Given the description of an element on the screen output the (x, y) to click on. 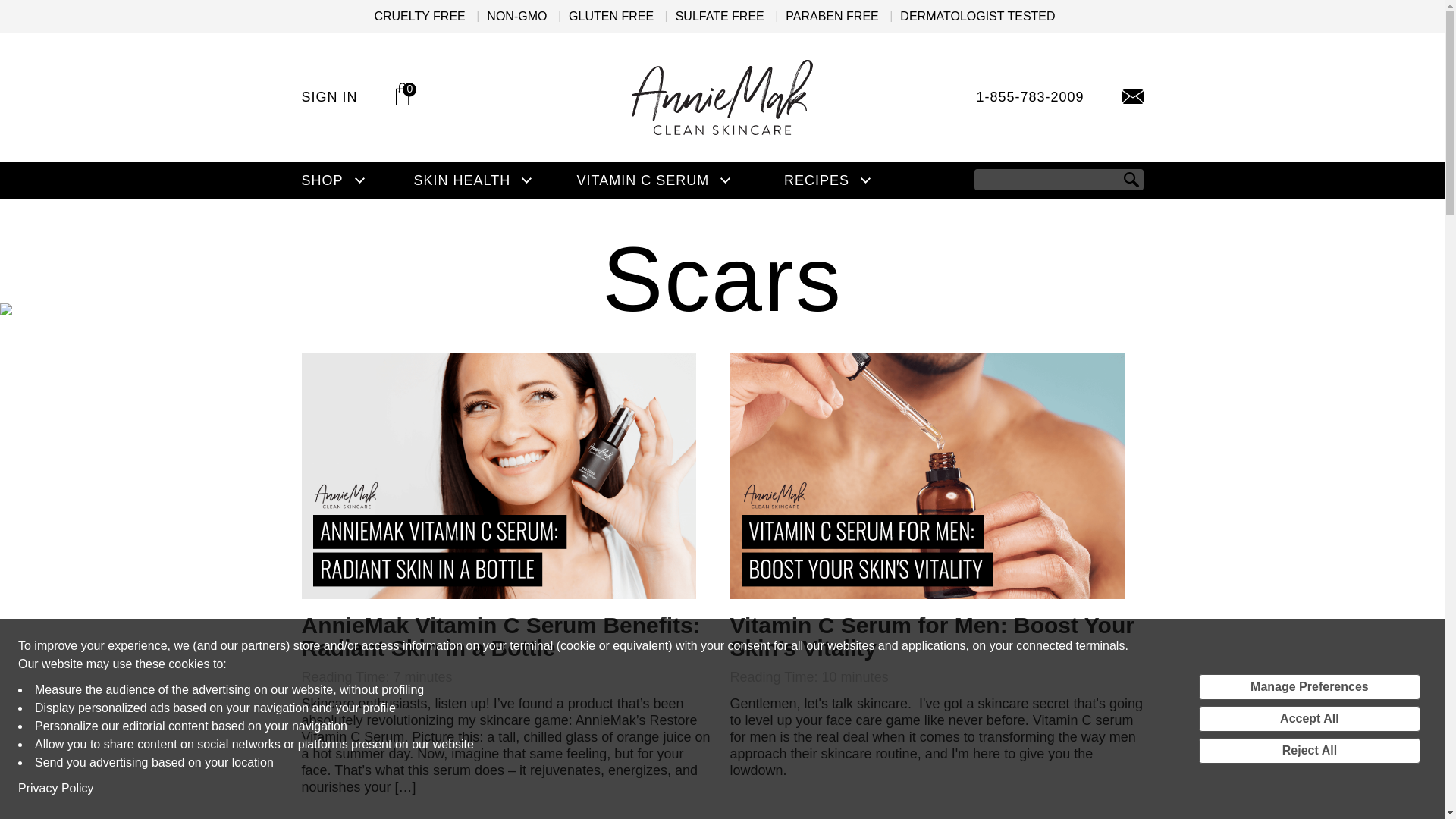
SHOP (322, 180)
Accept All (1309, 718)
Manage Preferences (1309, 687)
1-855-783-2009 (1029, 96)
SKIN HEALTH (462, 180)
Privacy Policy (55, 788)
Reject All (1309, 750)
SIGN IN (329, 96)
VITAMIN C SERUM (643, 180)
0 (406, 93)
